Given the description of an element on the screen output the (x, y) to click on. 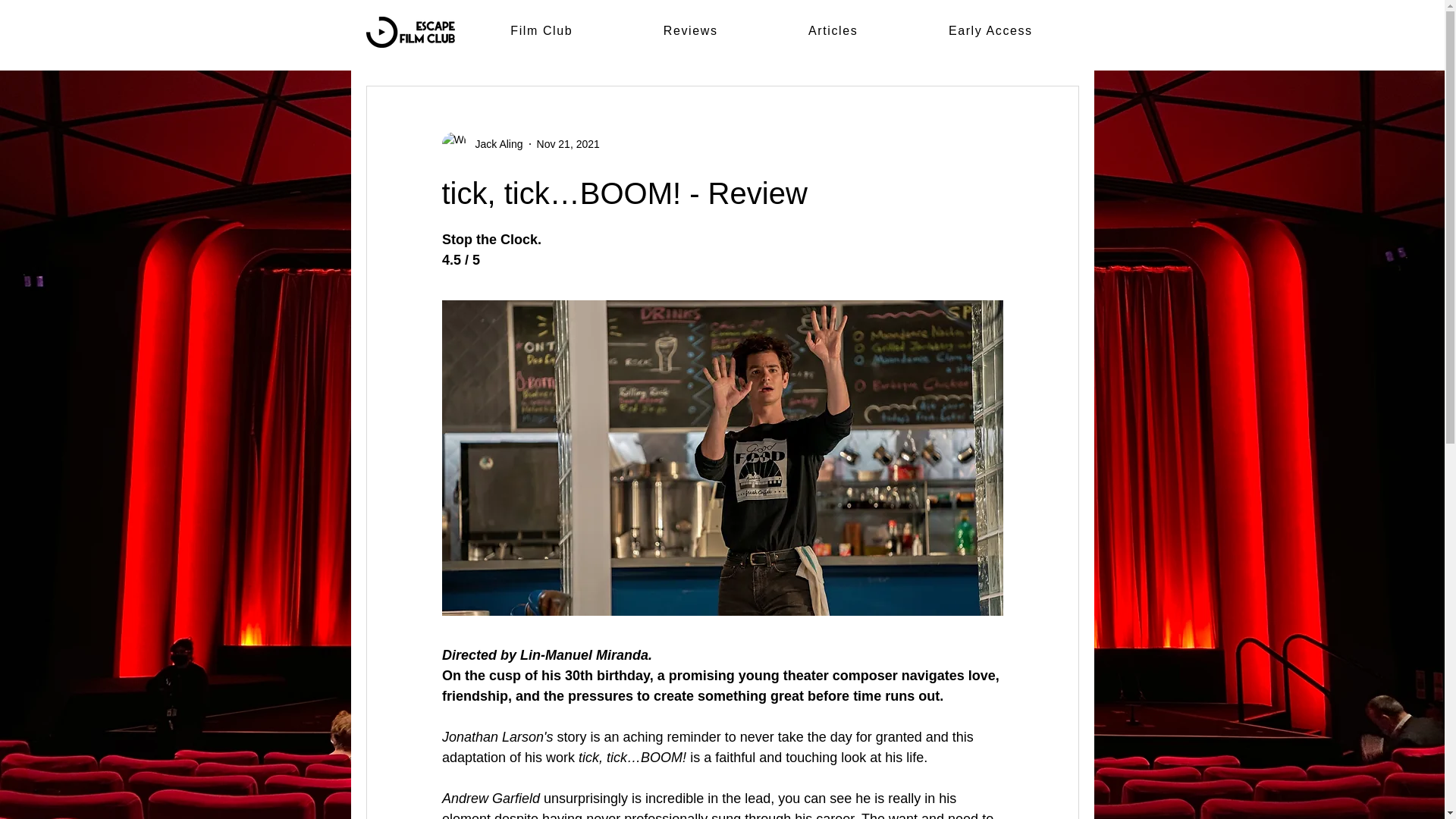
Early Access (990, 31)
Articles (833, 31)
Nov 21, 2021 (568, 143)
Film Club (541, 31)
Reviews (689, 31)
Jack Aling (493, 144)
